Given the description of an element on the screen output the (x, y) to click on. 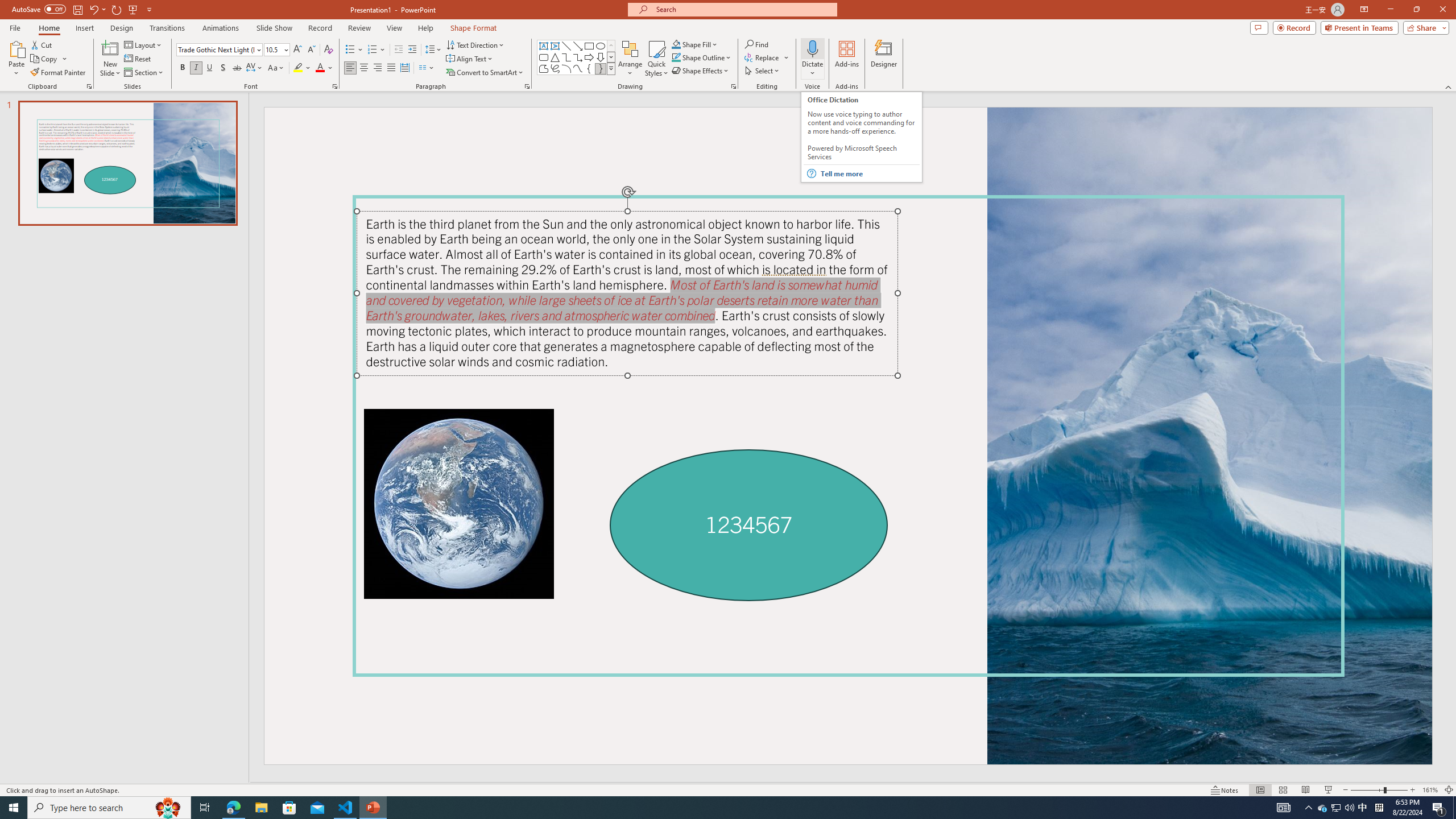
Shape Outline Teal, Accent 1 (675, 56)
